Given the description of an element on the screen output the (x, y) to click on. 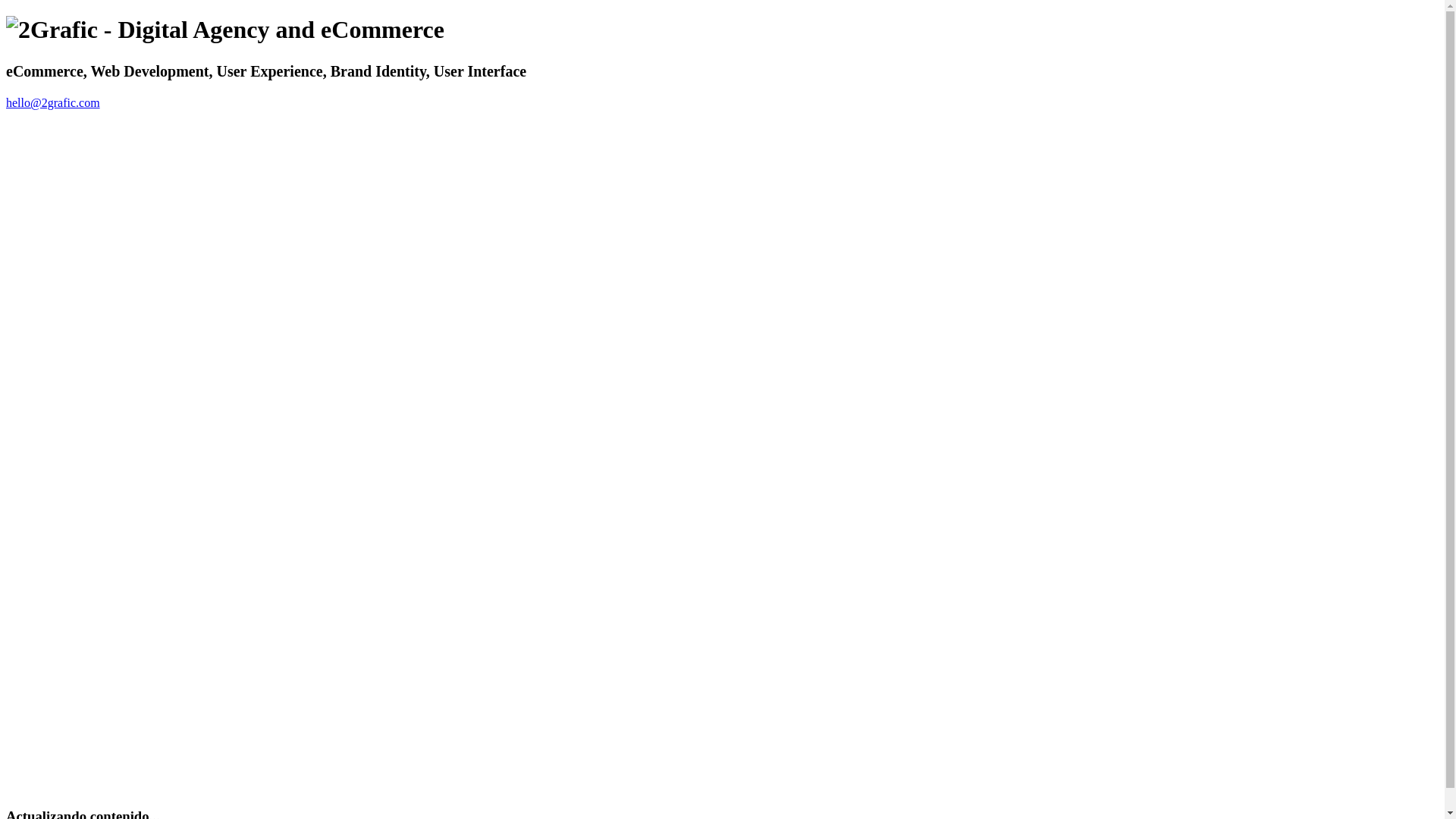
hello@2grafic.com Element type: text (53, 102)
